Given the description of an element on the screen output the (x, y) to click on. 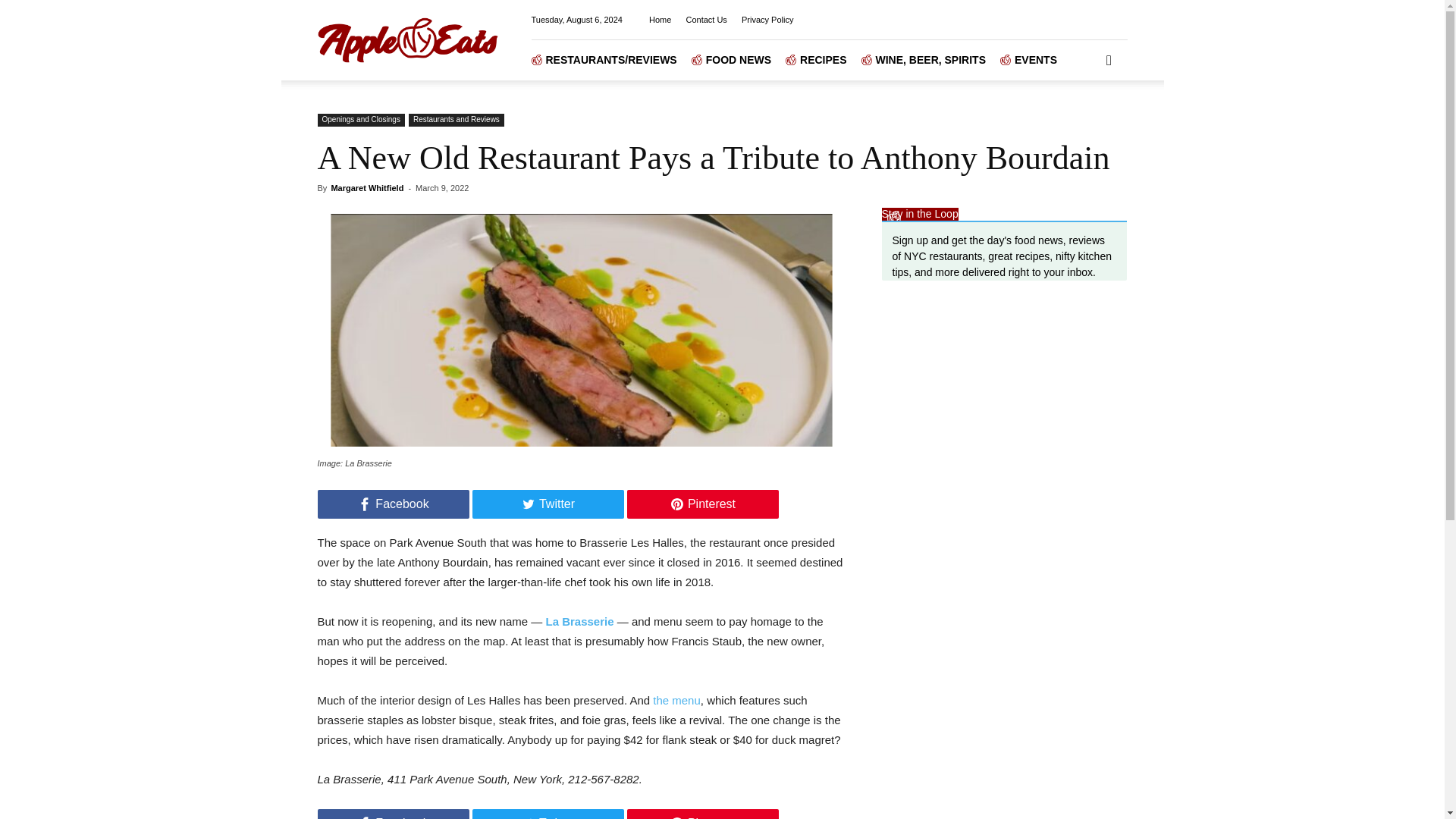
Apple Eats: New York City NYC Food News (407, 40)
Pinterest (701, 503)
EVENTS (1035, 60)
Search (1085, 122)
La Brasserie (594, 335)
WINE, BEER, SPIRITS (929, 60)
La Brasserie (580, 621)
Contact Us (705, 19)
the menu (676, 699)
RECIPES (823, 60)
Facebook (392, 503)
Restaurants and Reviews (456, 119)
Twitter (547, 503)
Openings and Closings (360, 119)
Pinterest (701, 814)
